Given the description of an element on the screen output the (x, y) to click on. 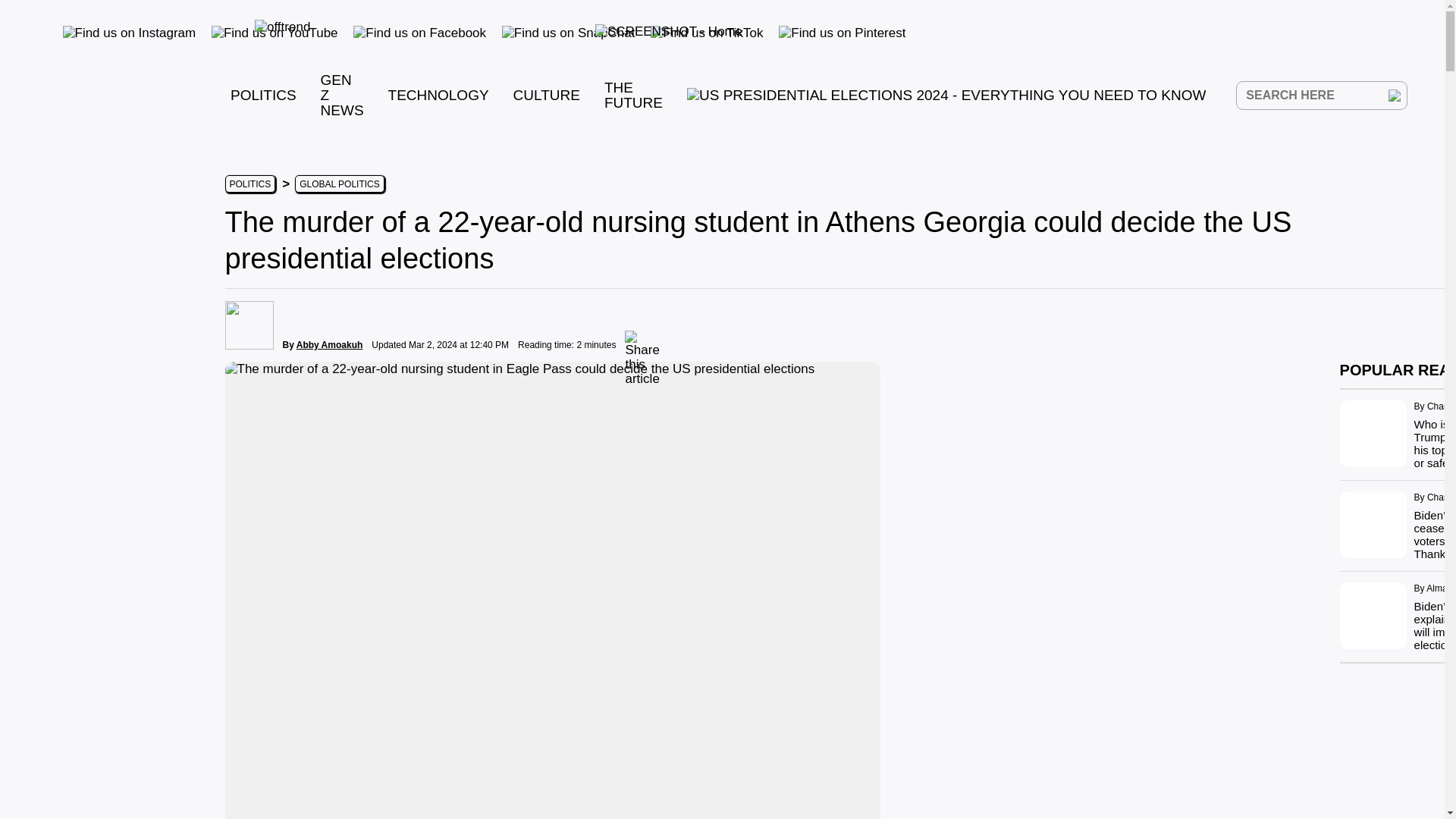
GLOBAL POLITICS (339, 184)
POLITICS (249, 184)
TECHNOLOGY (438, 94)
THE FUTURE (633, 94)
POLITICS (263, 94)
GEN Z NEWS (342, 94)
Abby Amoakuh (329, 344)
CULTURE (546, 94)
